Given the description of an element on the screen output the (x, y) to click on. 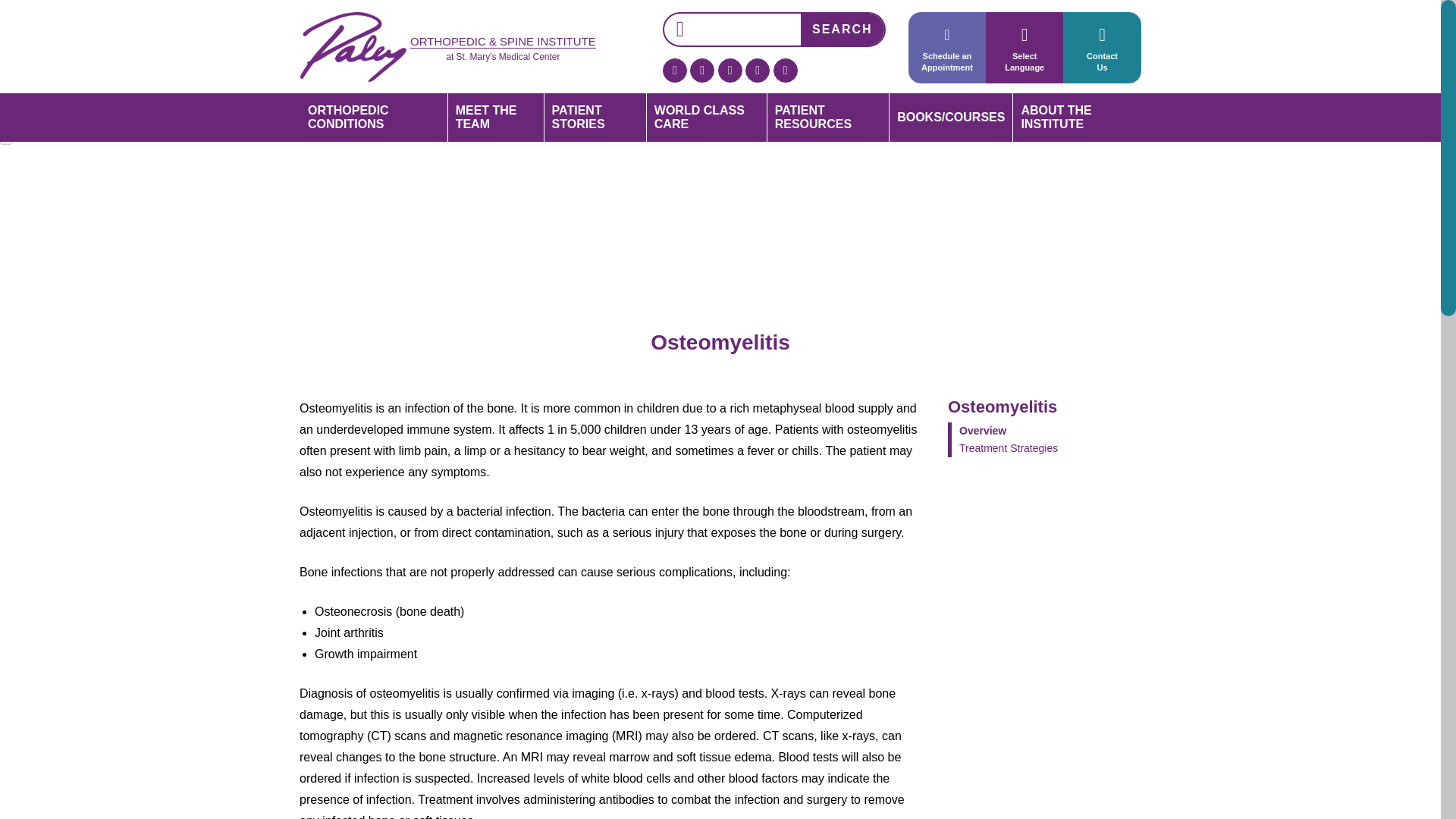
Search (841, 29)
Search (841, 29)
Twitter (702, 70)
YouTube (757, 70)
Schedule an Appointment (946, 47)
Facebook (674, 70)
Select Language (1023, 47)
LinkedIn (1101, 47)
